Given the description of an element on the screen output the (x, y) to click on. 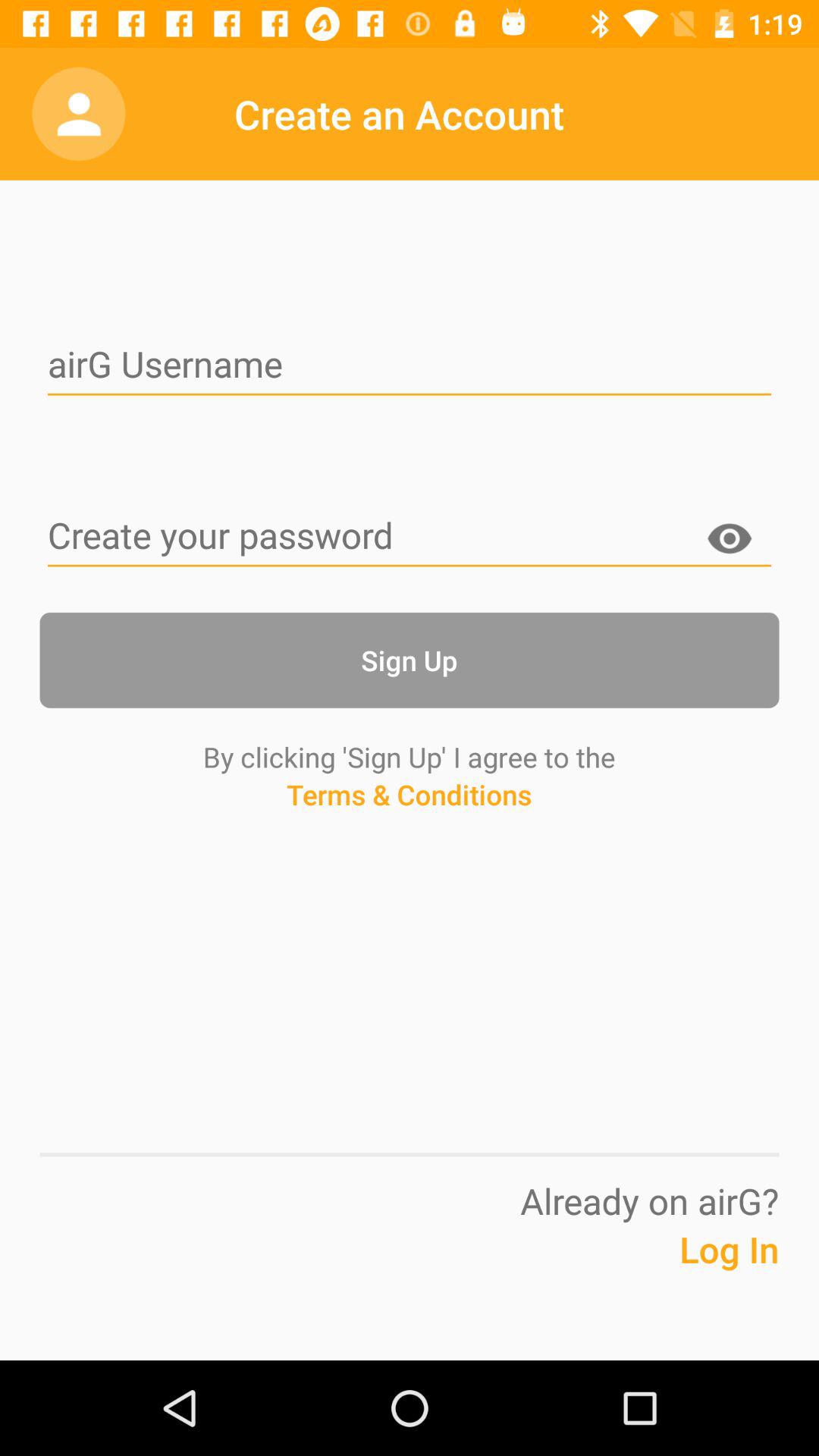
enter username (409, 366)
